Given the description of an element on the screen output the (x, y) to click on. 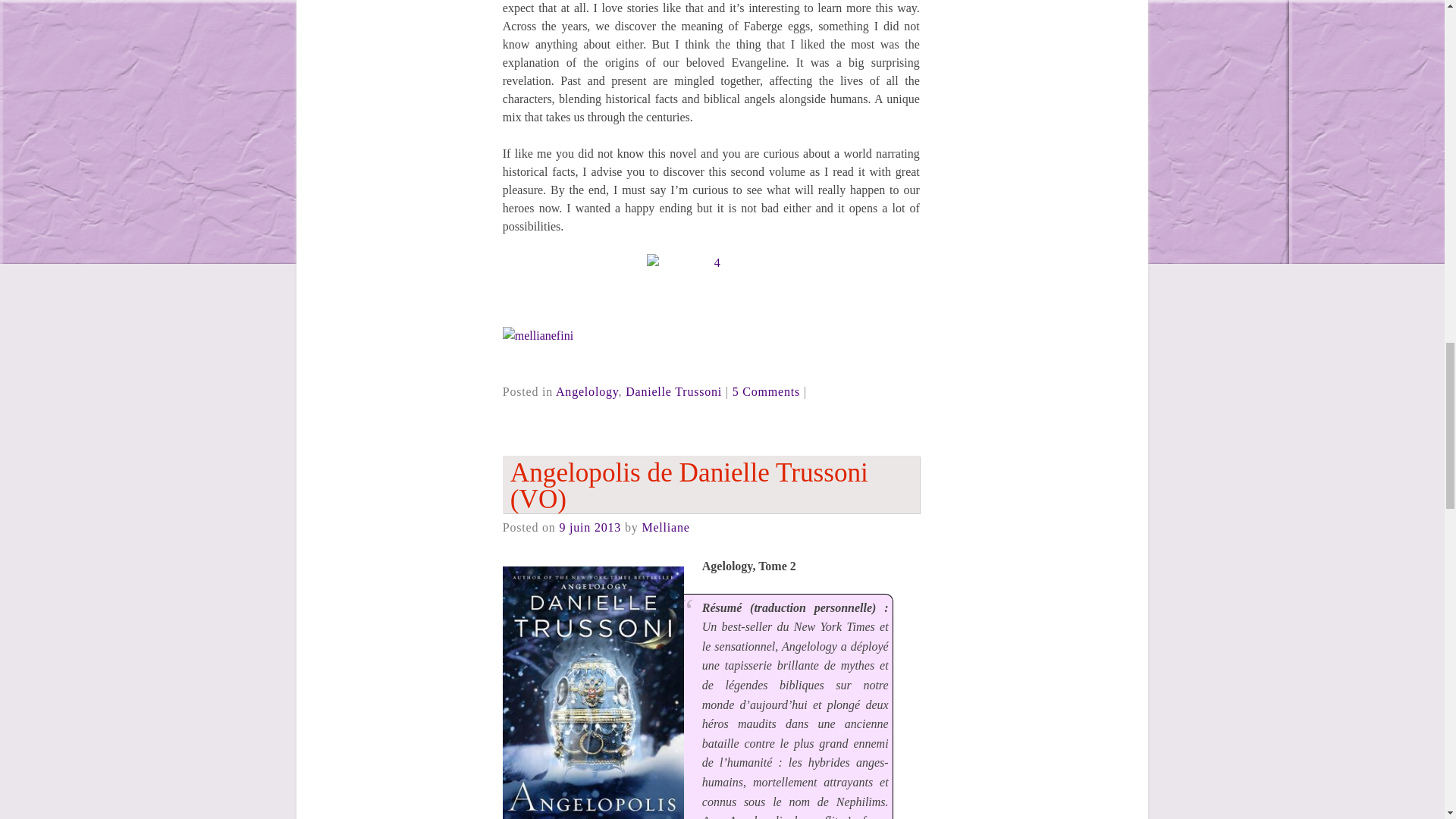
12 h 43 min (590, 526)
Angelology (587, 391)
5 Comments (765, 391)
Danielle Trussoni (674, 391)
View all posts by Melliane (665, 526)
Melliane (665, 526)
9 juin 2013 (590, 526)
